Given the description of an element on the screen output the (x, y) to click on. 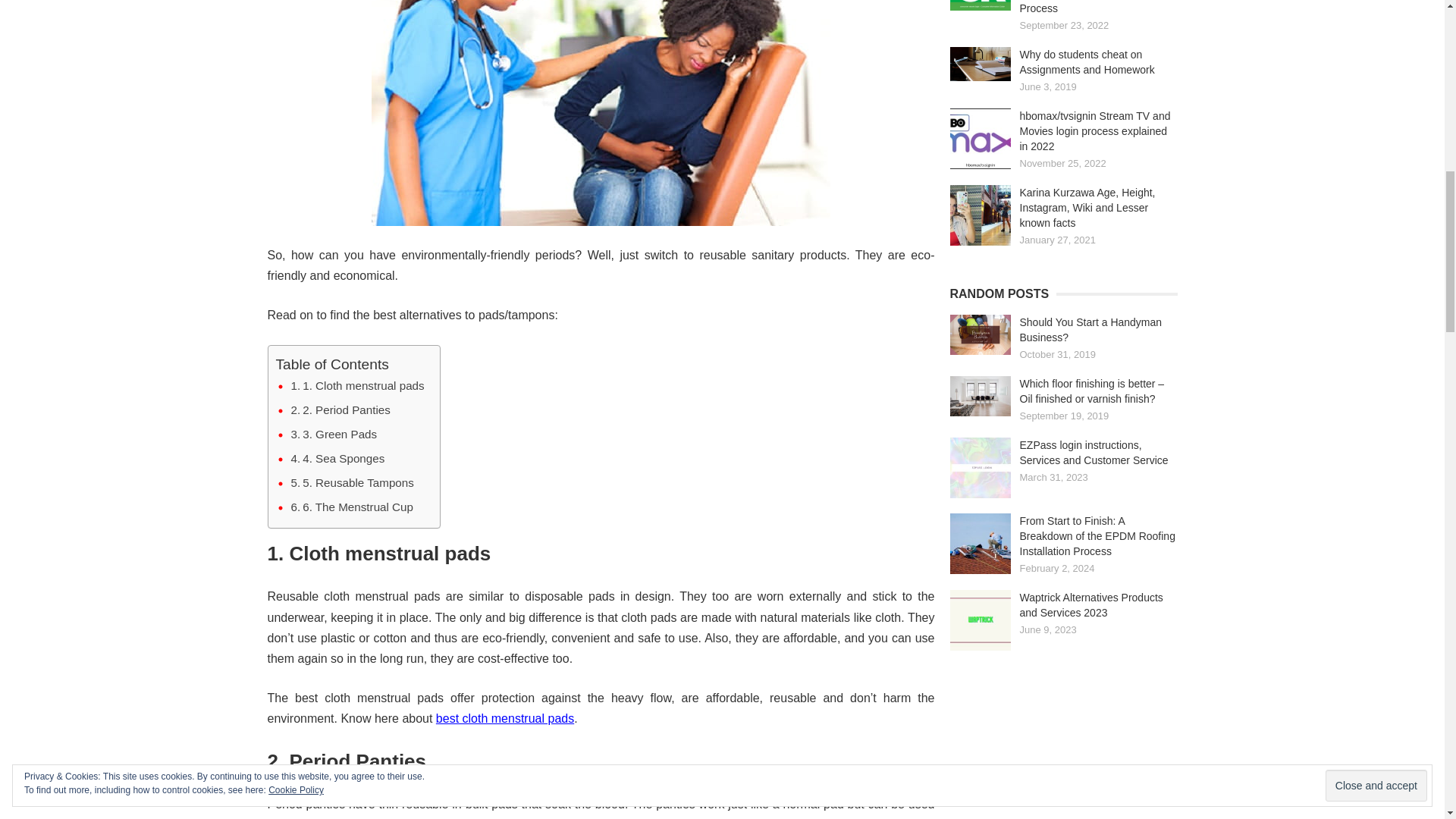
3. Green Pads (334, 434)
5. Reusable Tampons (352, 483)
2. Period Panties (340, 410)
1. Cloth menstrual pads (358, 385)
6. The Menstrual Cup (352, 506)
4. Sea Sponges (338, 458)
